Given the description of an element on the screen output the (x, y) to click on. 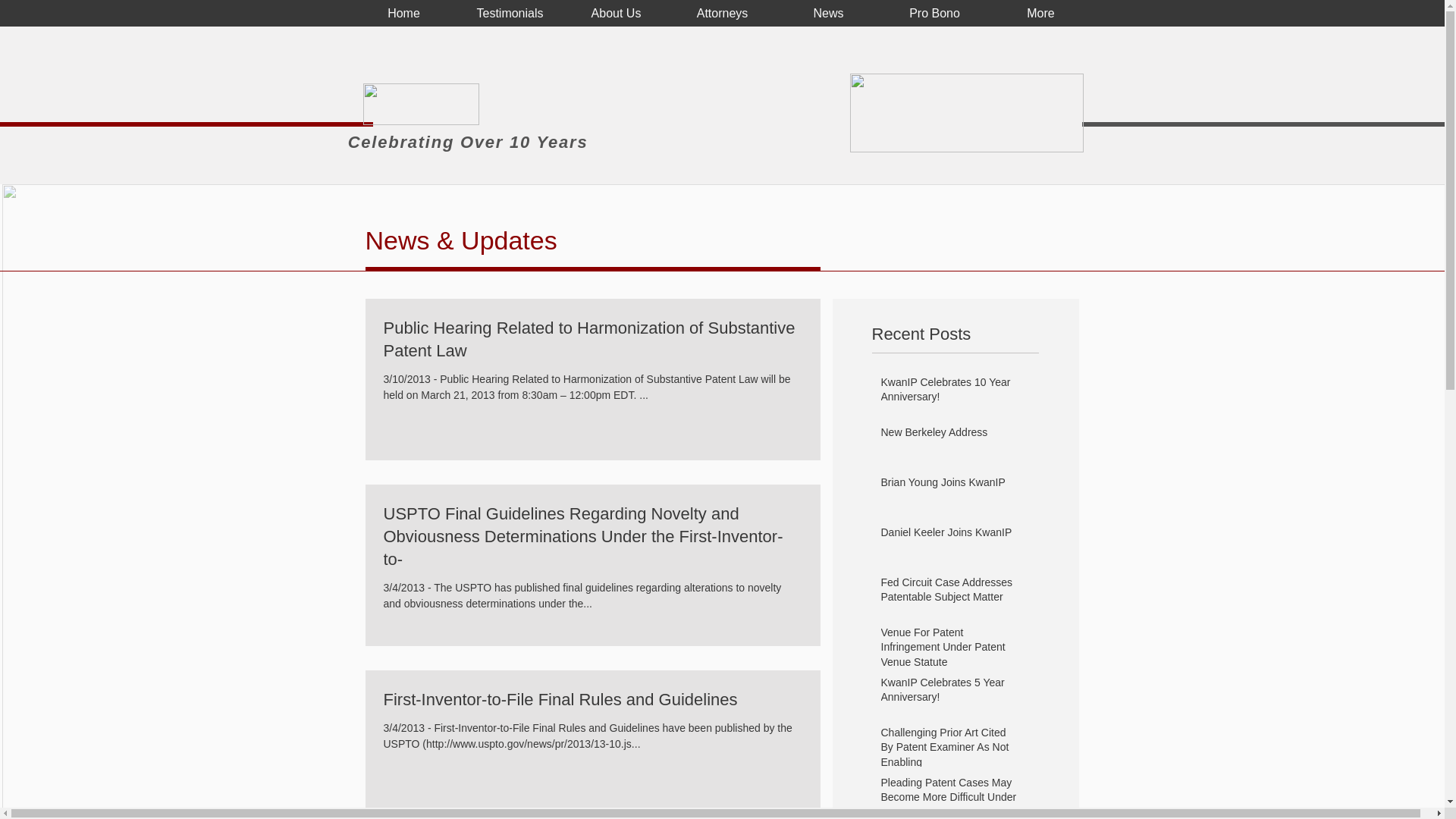
News (827, 13)
Brian Young Joins KwanIP (949, 485)
About Us (615, 13)
Daniel Keeler Joins KwanIP (949, 536)
Pro Bono (933, 13)
KwanIP Celebrates 10 Year Anniversary! (949, 393)
Venue For Patent Infringement Under Patent Venue Statute (949, 650)
Attorneys (721, 13)
